Given the description of an element on the screen output the (x, y) to click on. 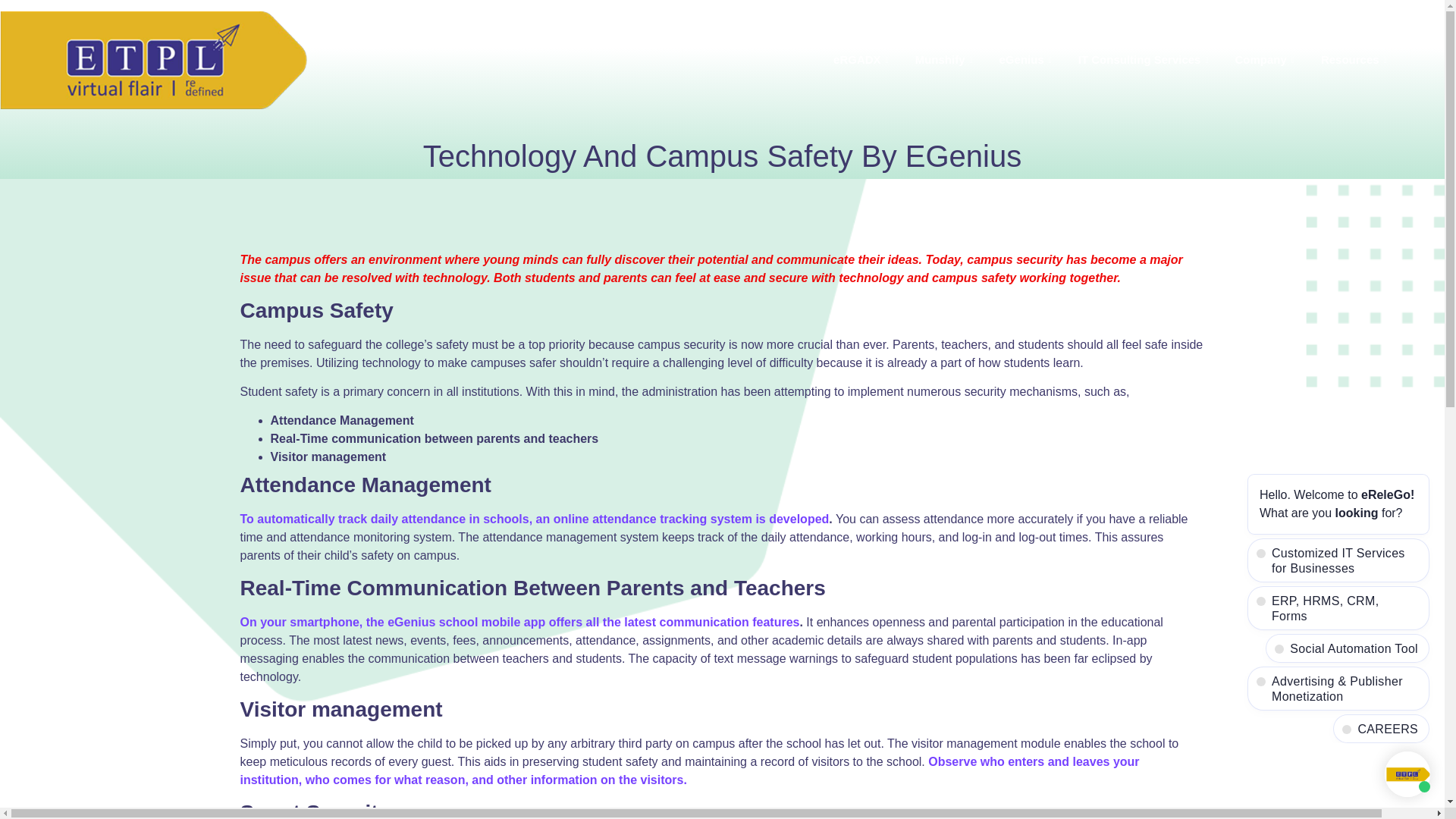
Company (1266, 59)
eGenius (1027, 59)
Resources (1355, 59)
IT Consulting Services (1145, 59)
eRGADX (863, 59)
Munshify (946, 59)
